Given the description of an element on the screen output the (x, y) to click on. 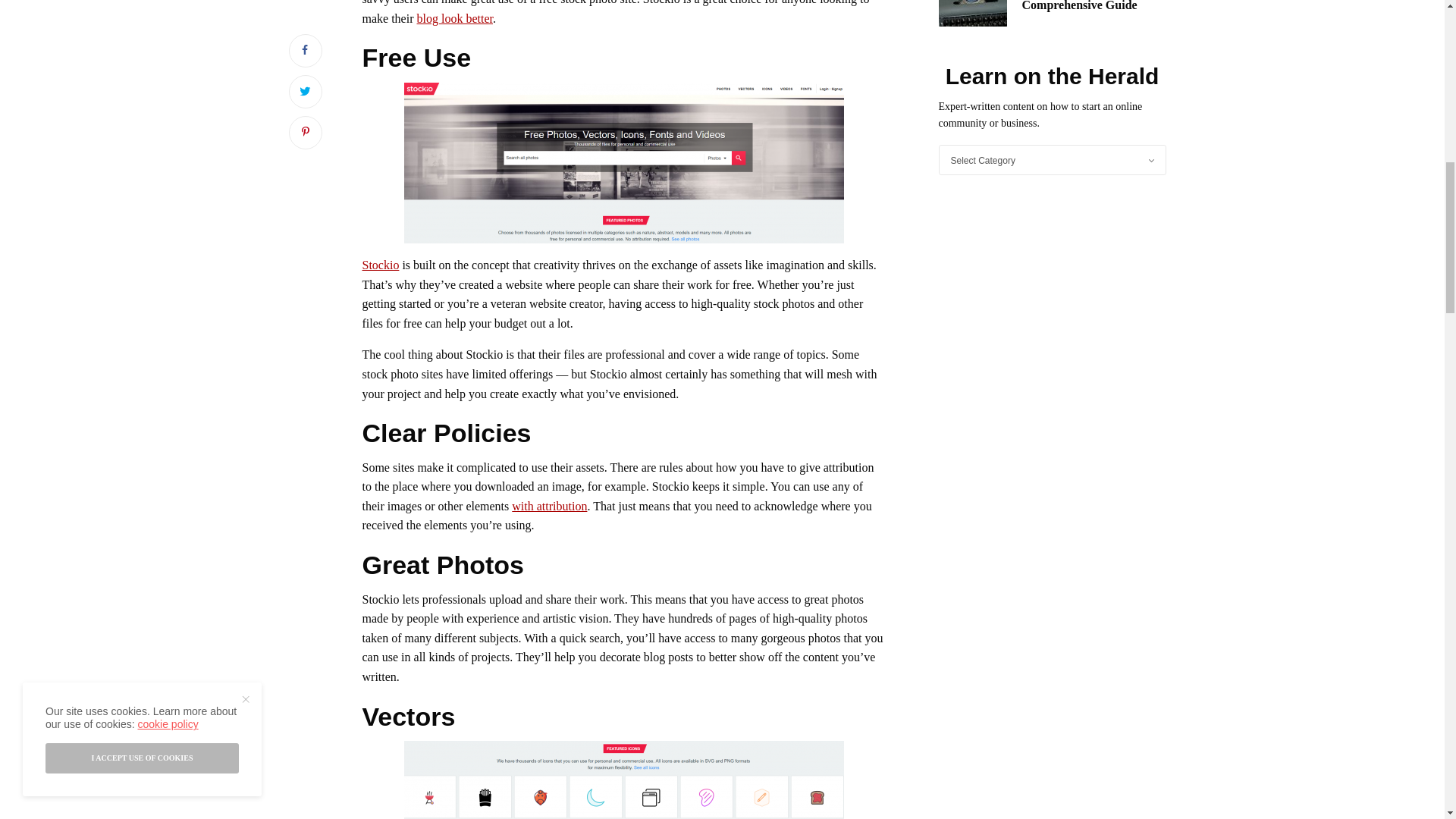
with attribution (549, 505)
blog look better (454, 18)
Stockio (380, 264)
